Given the description of an element on the screen output the (x, y) to click on. 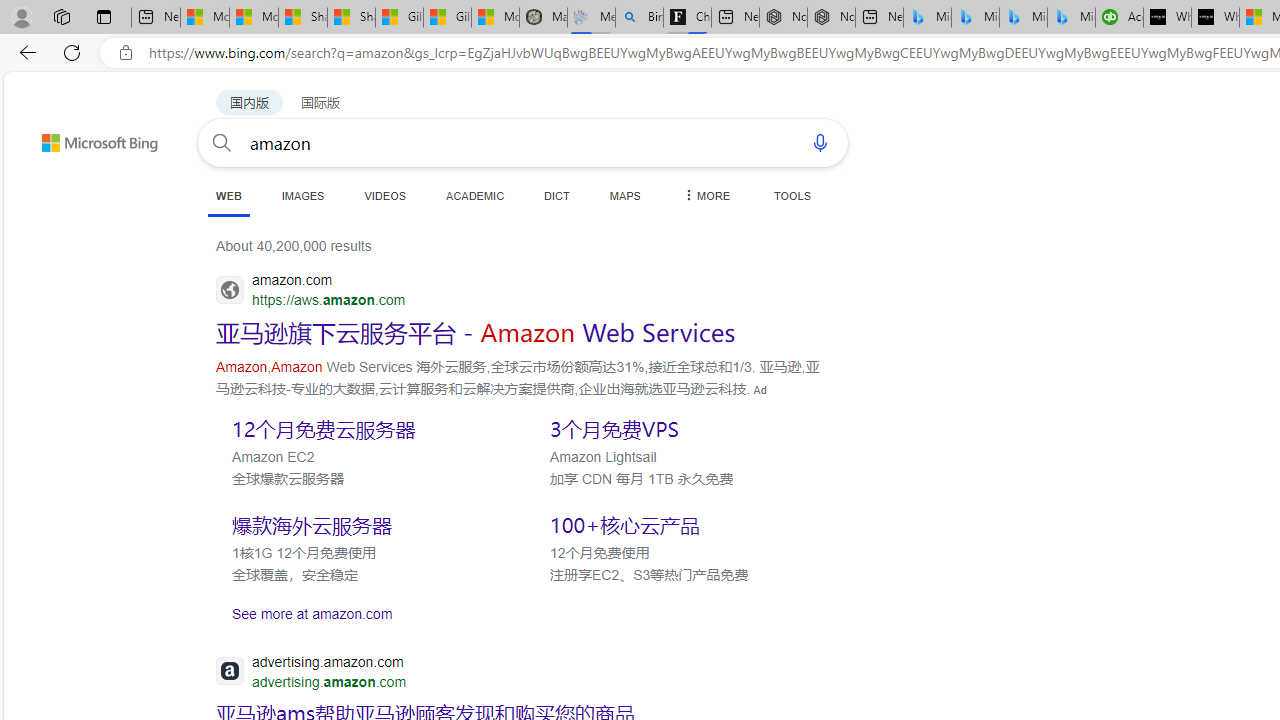
MORE (705, 195)
See more at amazon.com (520, 613)
DICT (557, 195)
IMAGES (302, 195)
DICT (557, 195)
Microsoft Bing Travel - Stays in Bangkok, Bangkok, Thailand (975, 17)
IMAGES (302, 195)
